Given the description of an element on the screen output the (x, y) to click on. 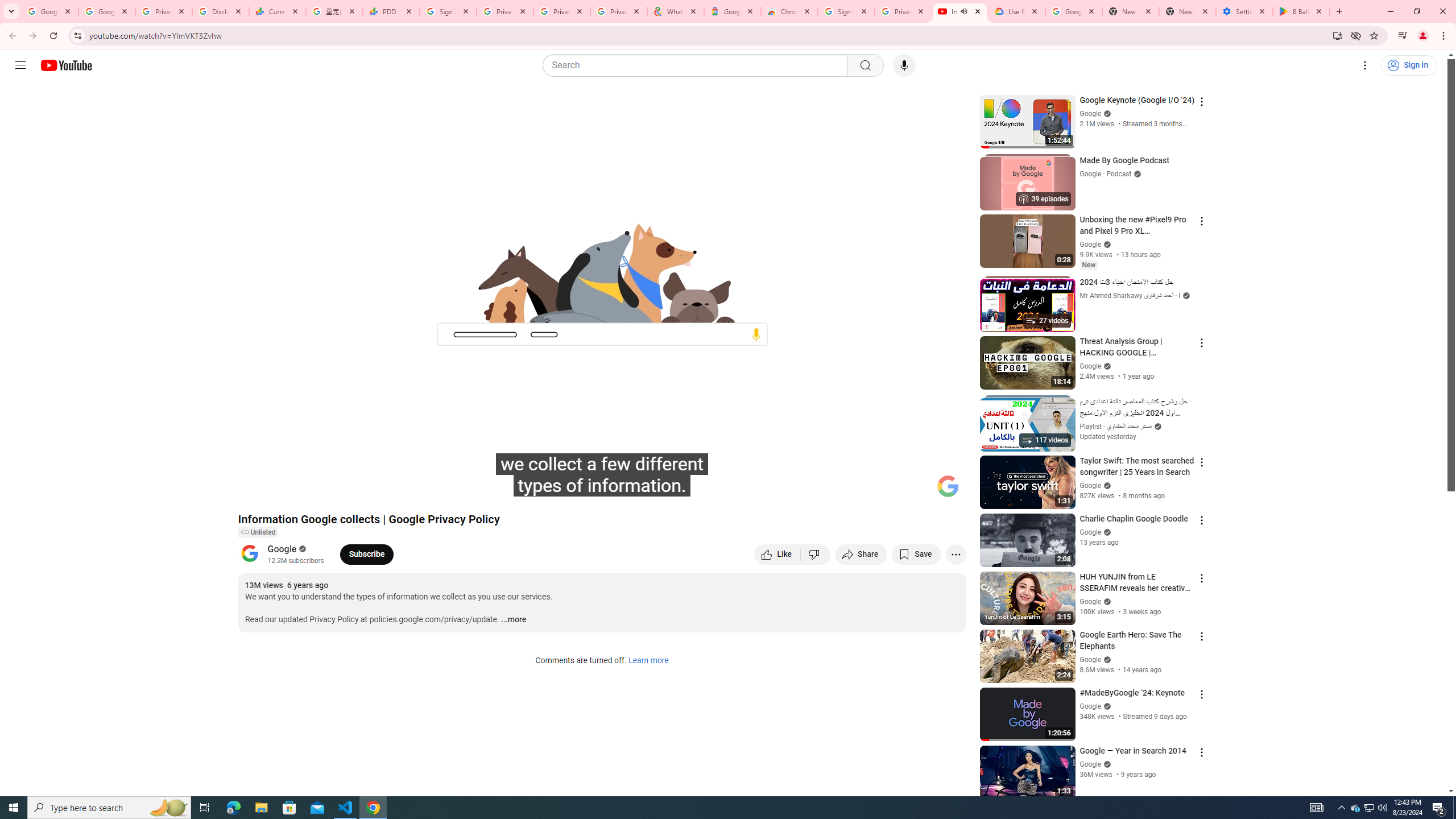
Settings - System (1244, 11)
Google (282, 548)
Seek slider (601, 476)
...more (512, 620)
Settings (863, 490)
Mute tab (963, 10)
Action menu (1200, 752)
